Given the description of an element on the screen output the (x, y) to click on. 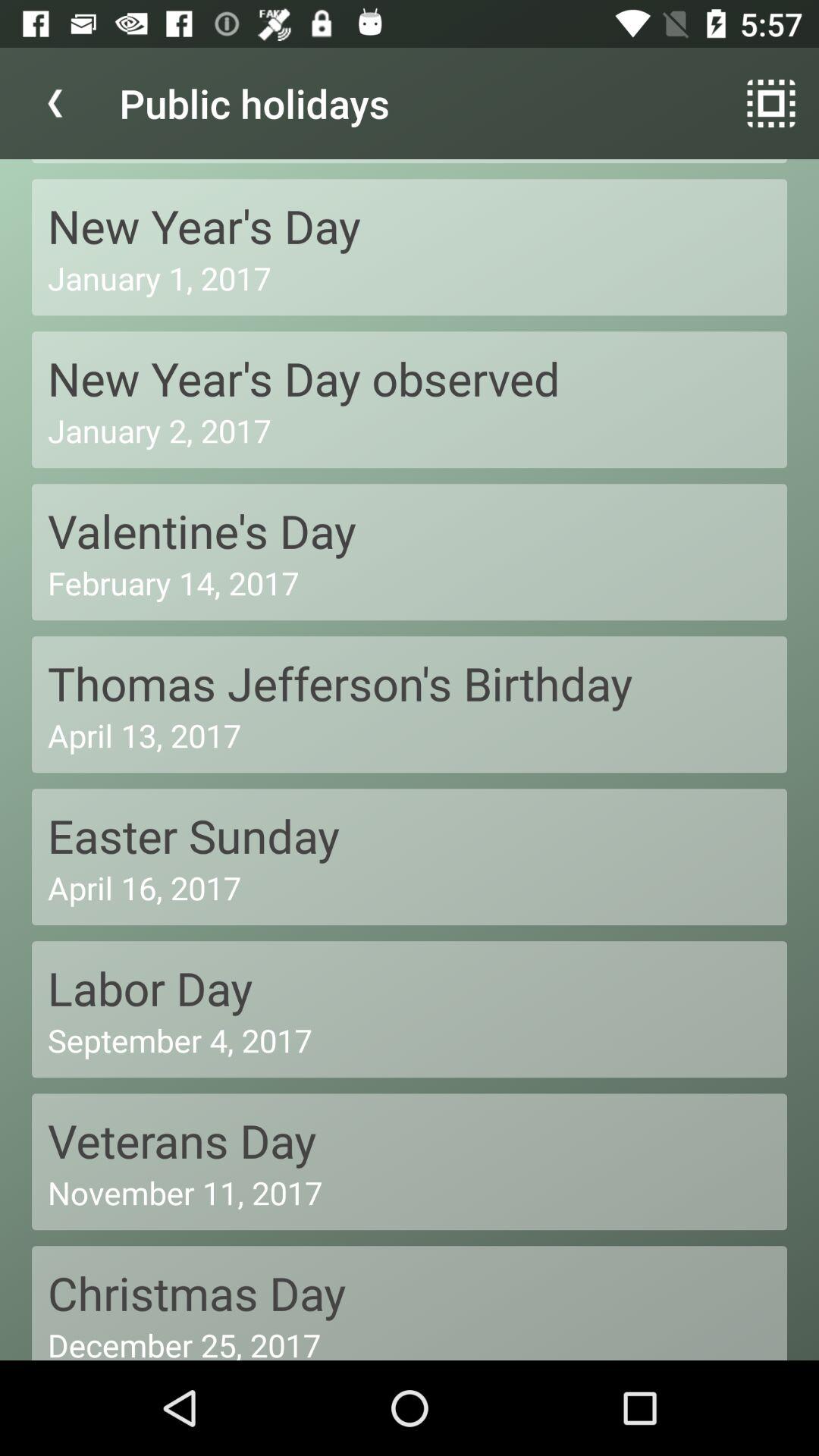
select item below labor day icon (409, 1039)
